Given the description of an element on the screen output the (x, y) to click on. 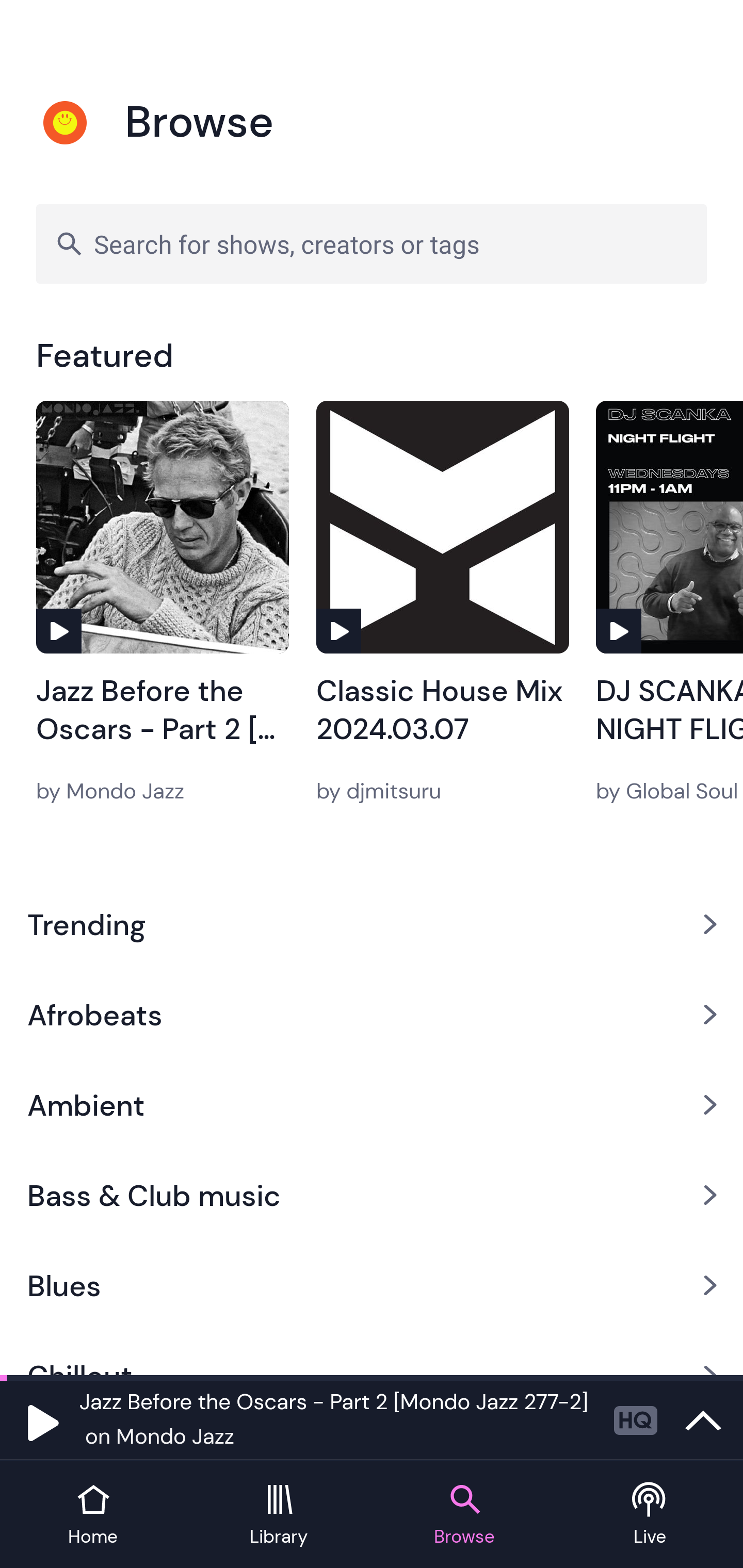
Search for shows, creators or tags (371, 243)
Trending (371, 924)
Afrobeats (371, 1014)
Ambient (371, 1104)
Bass & Club music (371, 1195)
Blues (371, 1285)
Home tab Home (92, 1515)
Library tab Library (278, 1515)
Browse tab Browse (464, 1515)
Live tab Live (650, 1515)
